Given the description of an element on the screen output the (x, y) to click on. 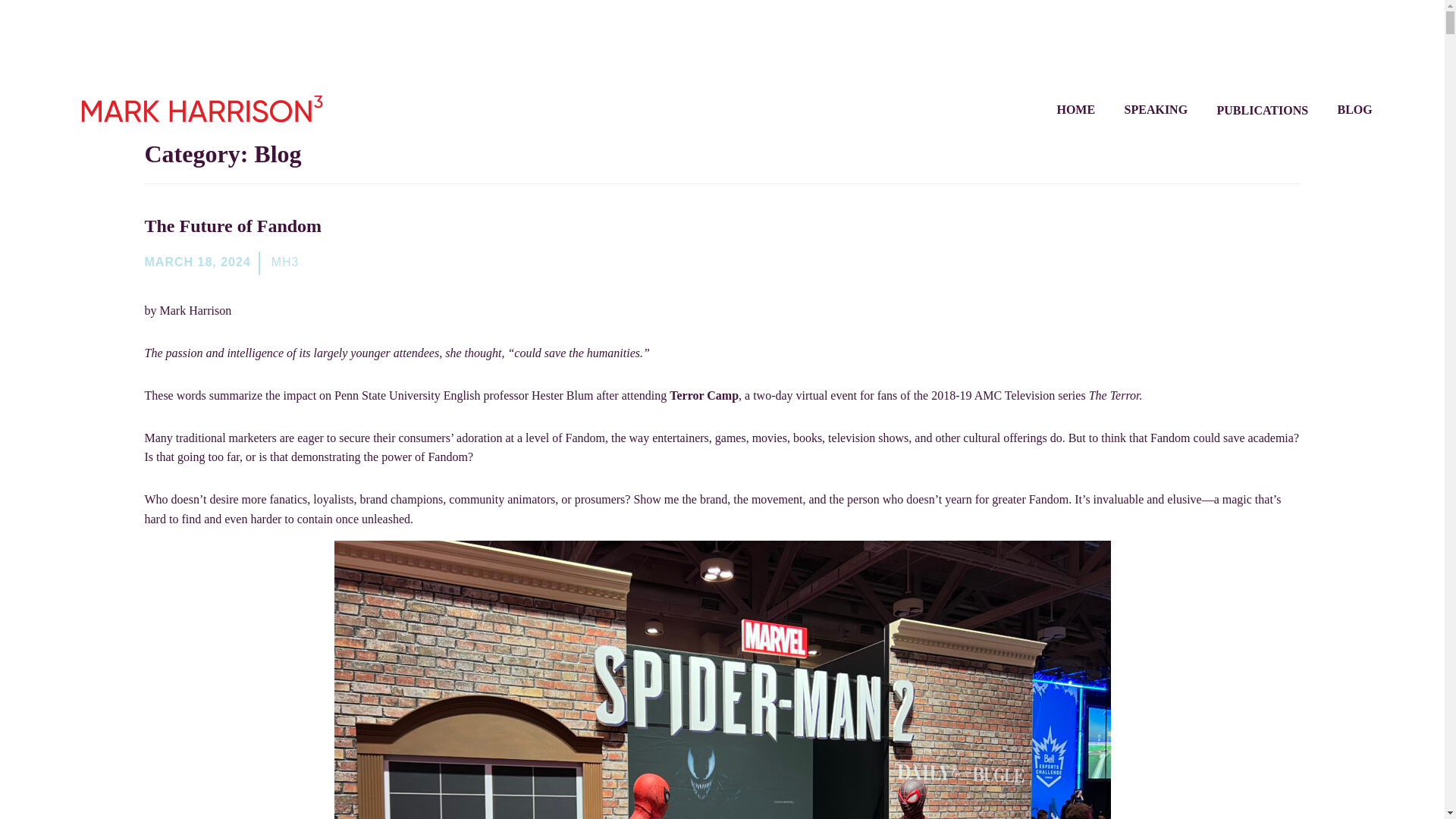
MARCH 18, 2024 (197, 261)
The Future of Fandom (232, 225)
PUBLICATIONS (1261, 109)
MH3 (284, 261)
SPEAKING (1156, 109)
HOME (1075, 109)
BLOG (1355, 109)
